Given the description of an element on the screen output the (x, y) to click on. 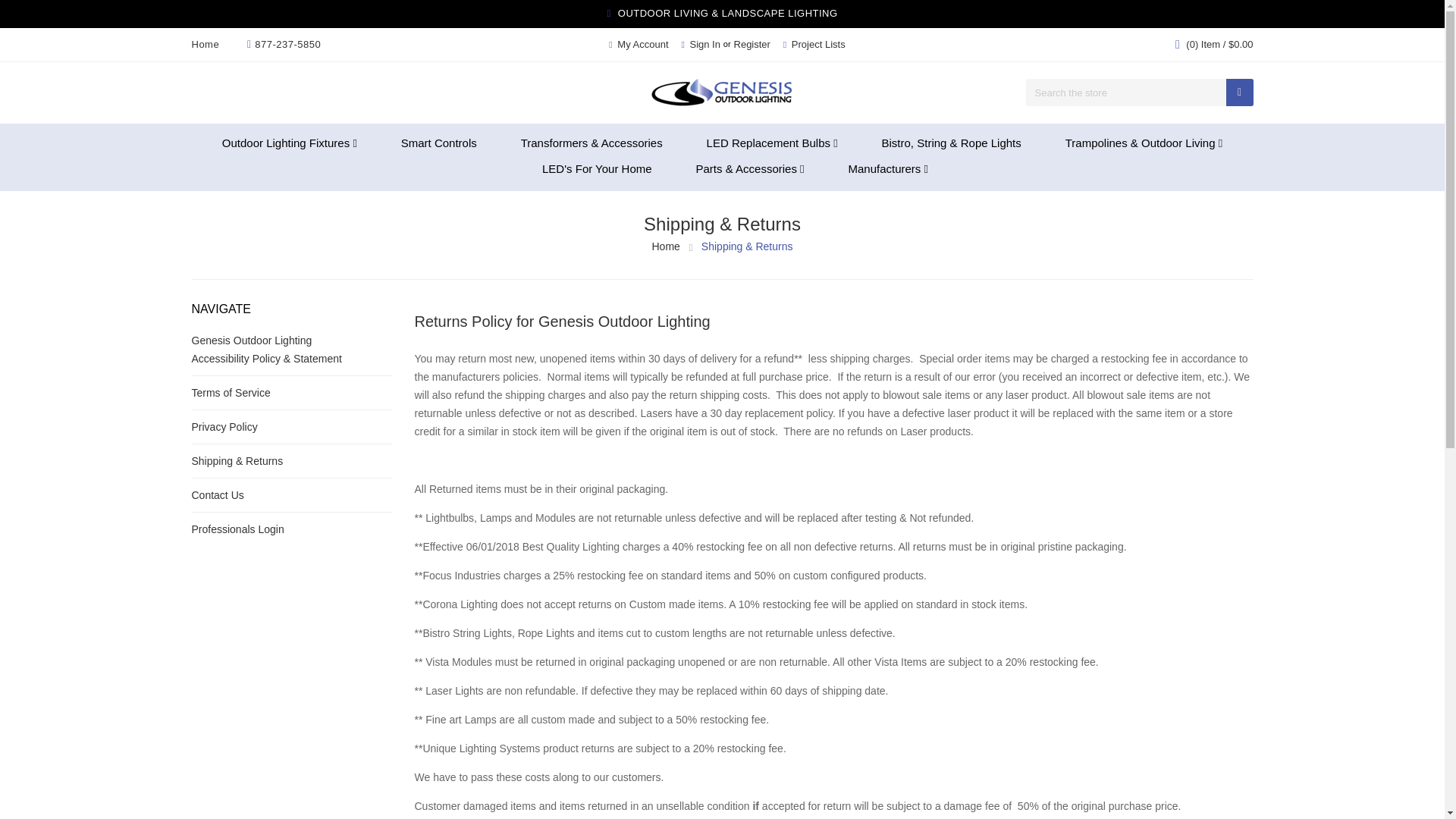
Search (1238, 92)
Genesis Outdoor Lighting (721, 92)
Search (1238, 92)
